Given the description of an element on the screen output the (x, y) to click on. 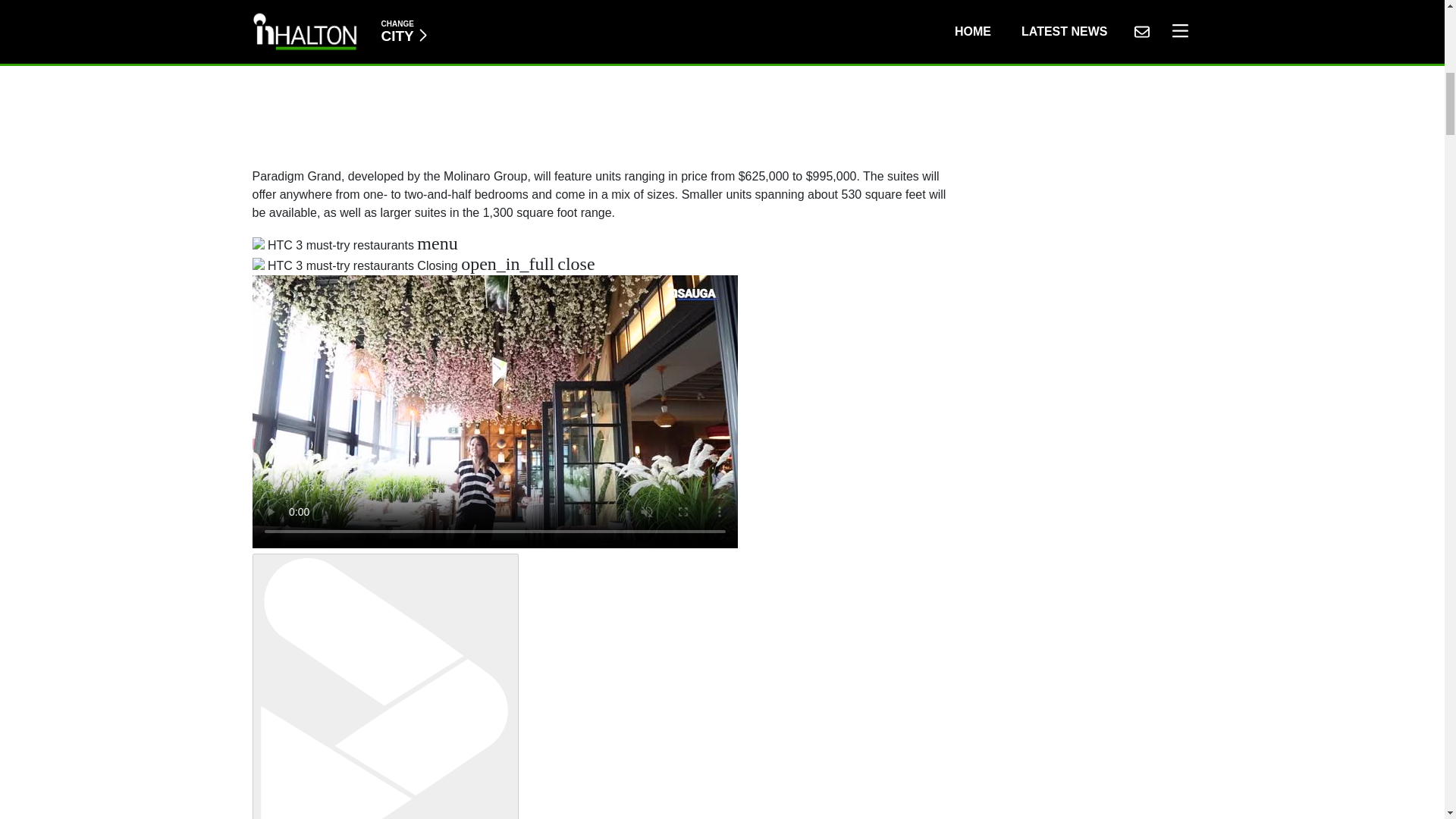
3rd party ad content (601, 76)
